Given the description of an element on the screen output the (x, y) to click on. 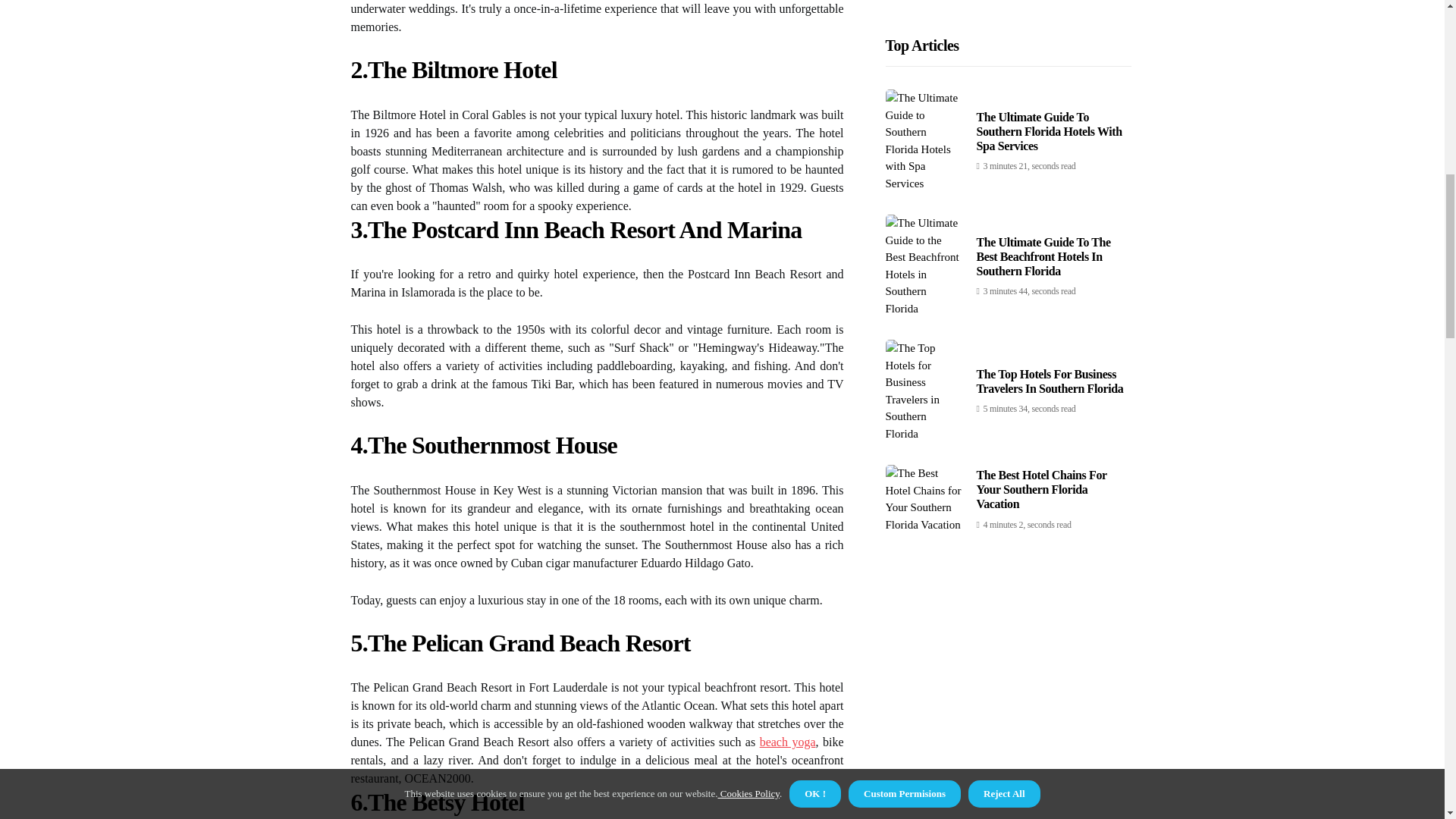
The Best Hotel Chains For Your Southern Florida Vacation (1041, 164)
beach yoga (787, 741)
The Top Hotels For Business Travelers In Southern Florida (1050, 56)
